Given the description of an element on the screen output the (x, y) to click on. 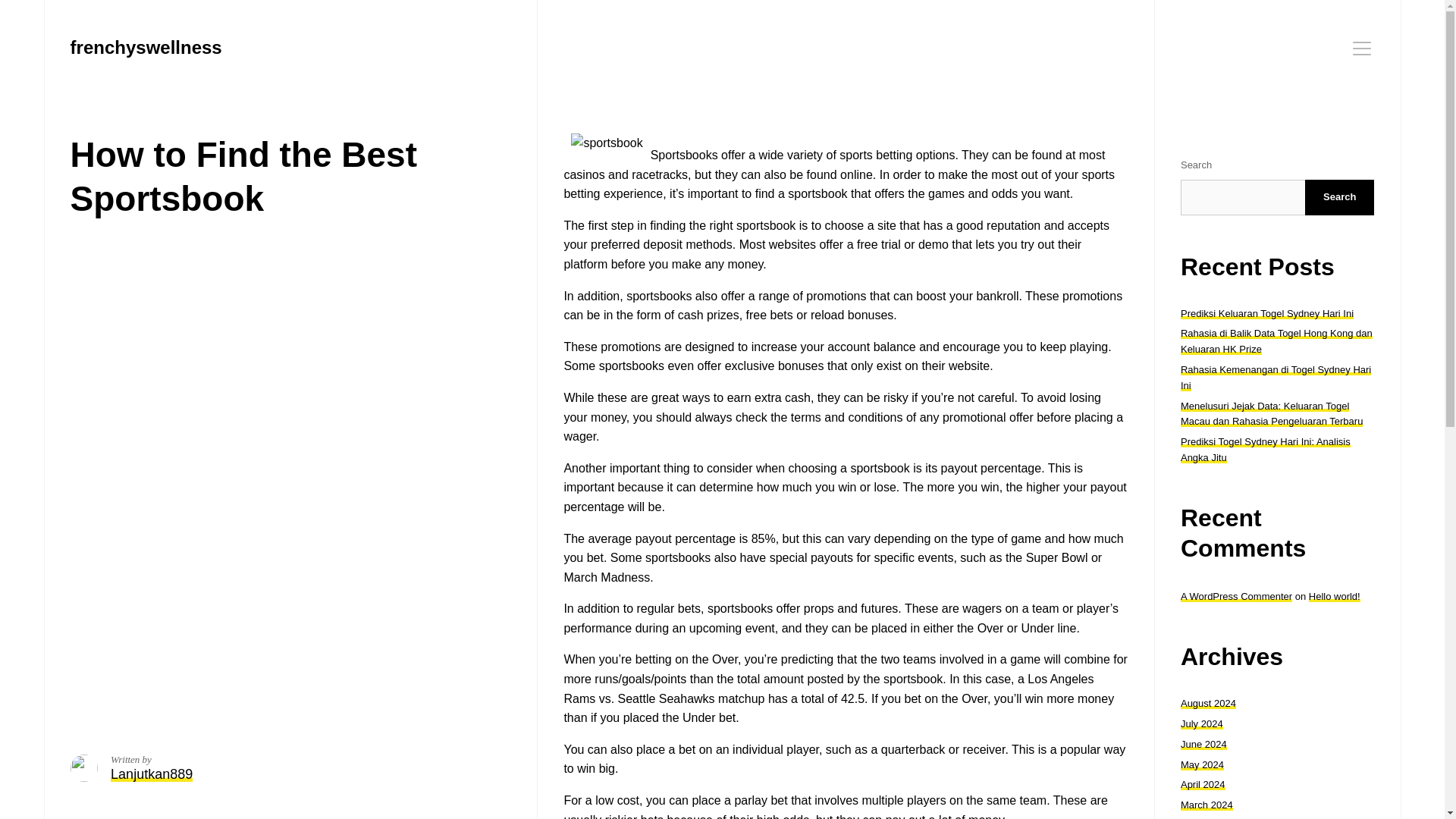
Rahasia di Balik Data Togel Hong Kong dan Keluaran HK Prize (1276, 340)
Menu (1361, 48)
April 2024 (1202, 784)
frenchyswellness (145, 47)
March 2024 (1206, 804)
Prediksi Togel Sydney Hari Ini: Analisis Angka Jitu (1265, 449)
Rahasia Kemenangan di Togel Sydney Hari Ini (1275, 377)
Prediksi Keluaran Togel Sydney Hari Ini (1267, 313)
Hello world! (1333, 595)
Search (1339, 197)
June 2024 (1203, 744)
August 2024 (1208, 703)
May 2024 (1202, 764)
Lanjutkan889 (151, 773)
